Given the description of an element on the screen output the (x, y) to click on. 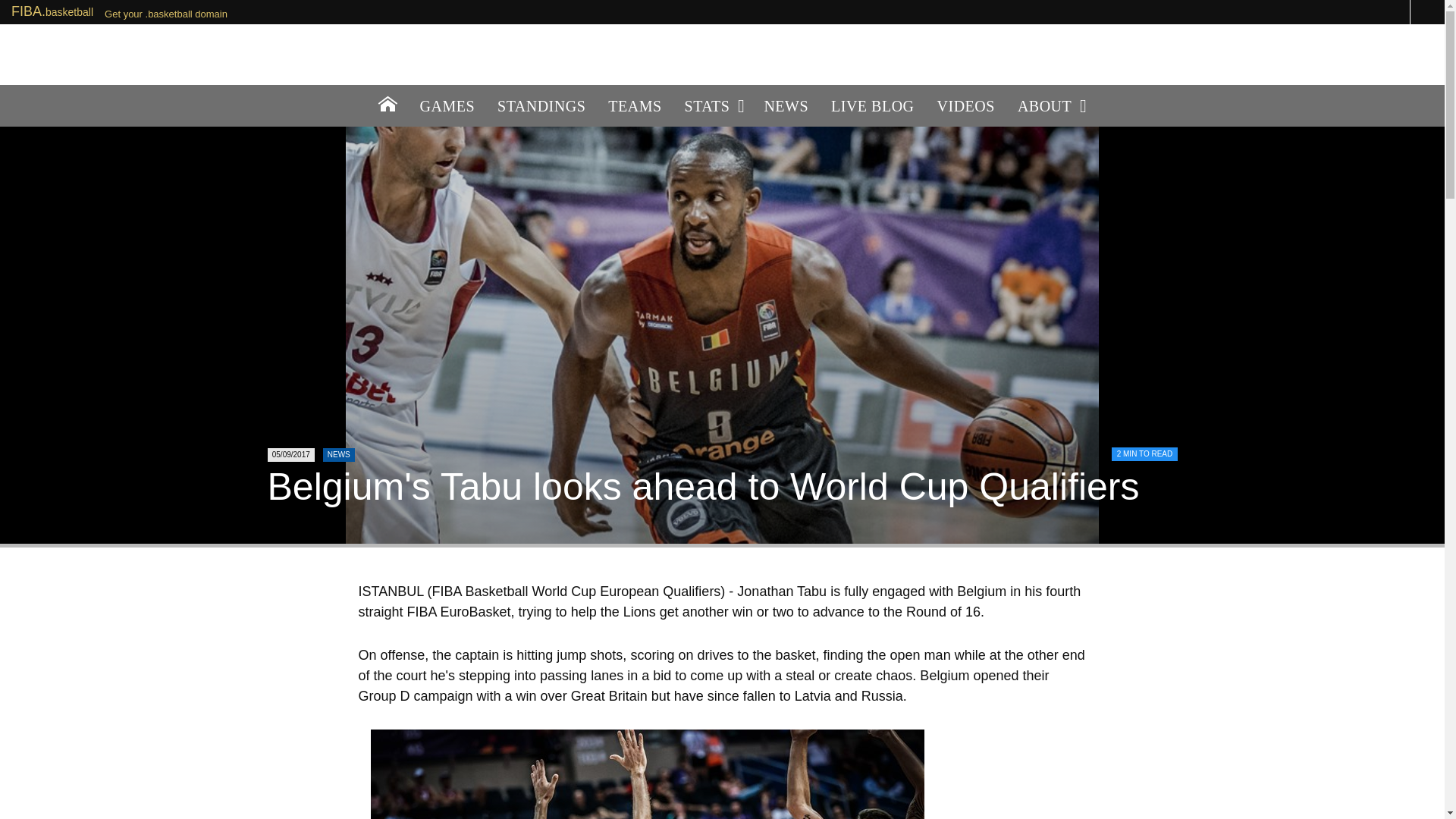
NEWS (785, 105)
GAMES (446, 105)
Get your .basketball domain (165, 13)
ABOUT (1050, 105)
STATS (712, 105)
TEAMS (634, 105)
LIVE BLOG (871, 105)
VIDEOS (966, 105)
FIBA.basketball (52, 11)
STANDINGS (541, 105)
